Given the description of an element on the screen output the (x, y) to click on. 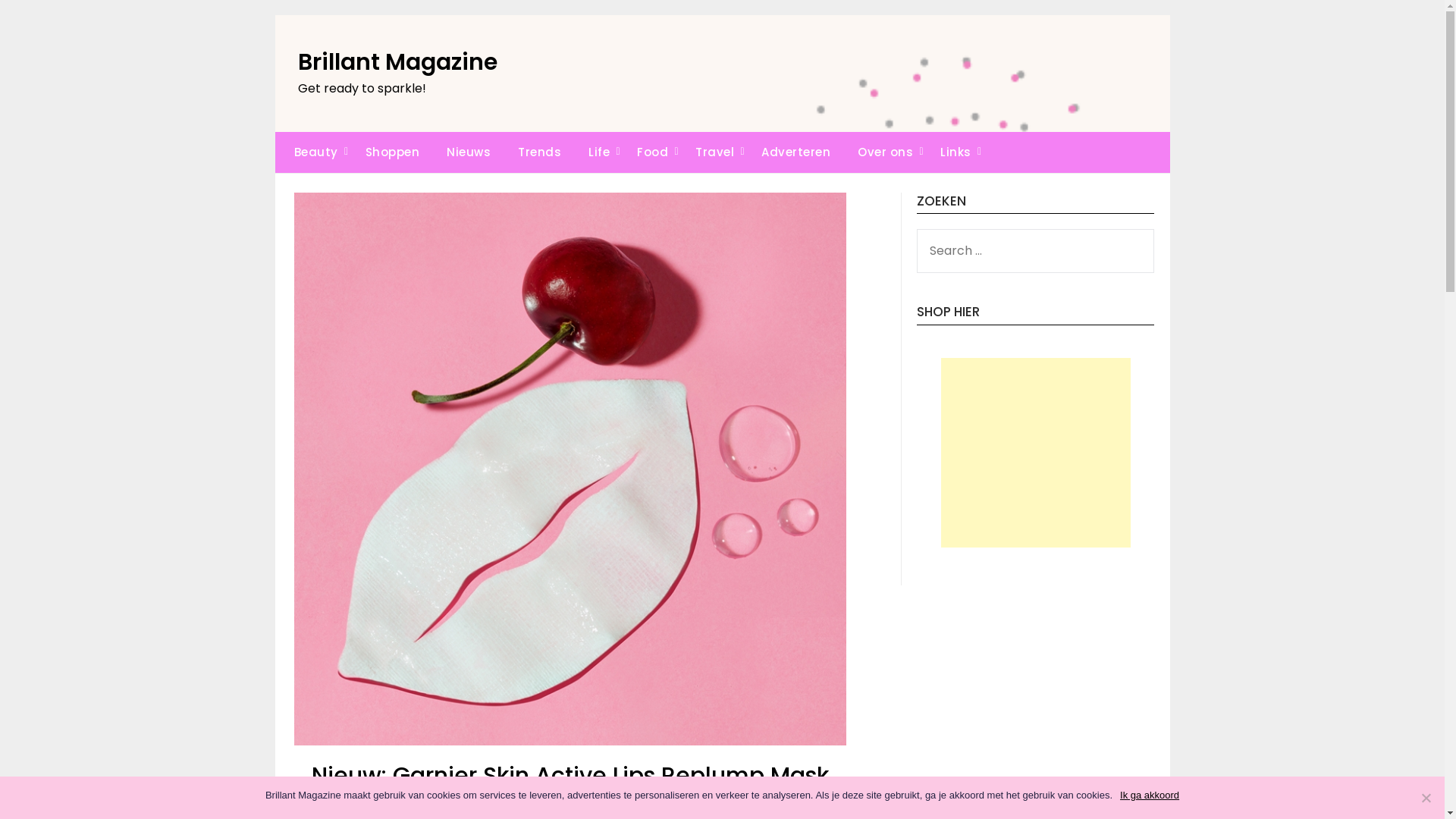
Beauty Element type: text (311, 151)
Brillant Magazine Element type: text (396, 62)
Life Element type: text (598, 151)
Links Element type: text (955, 151)
Food Element type: text (652, 151)
Nieuws Element type: text (468, 151)
Search Element type: text (40, 21)
Travel Element type: text (714, 151)
No Element type: hover (1425, 797)
Ik ga akkoord Element type: text (1149, 795)
Trends Element type: text (539, 151)
Advertisement Element type: hover (1035, 452)
Adverteren Element type: text (795, 151)
Shoppen Element type: text (392, 151)
Over ons Element type: text (885, 151)
